Given the description of an element on the screen output the (x, y) to click on. 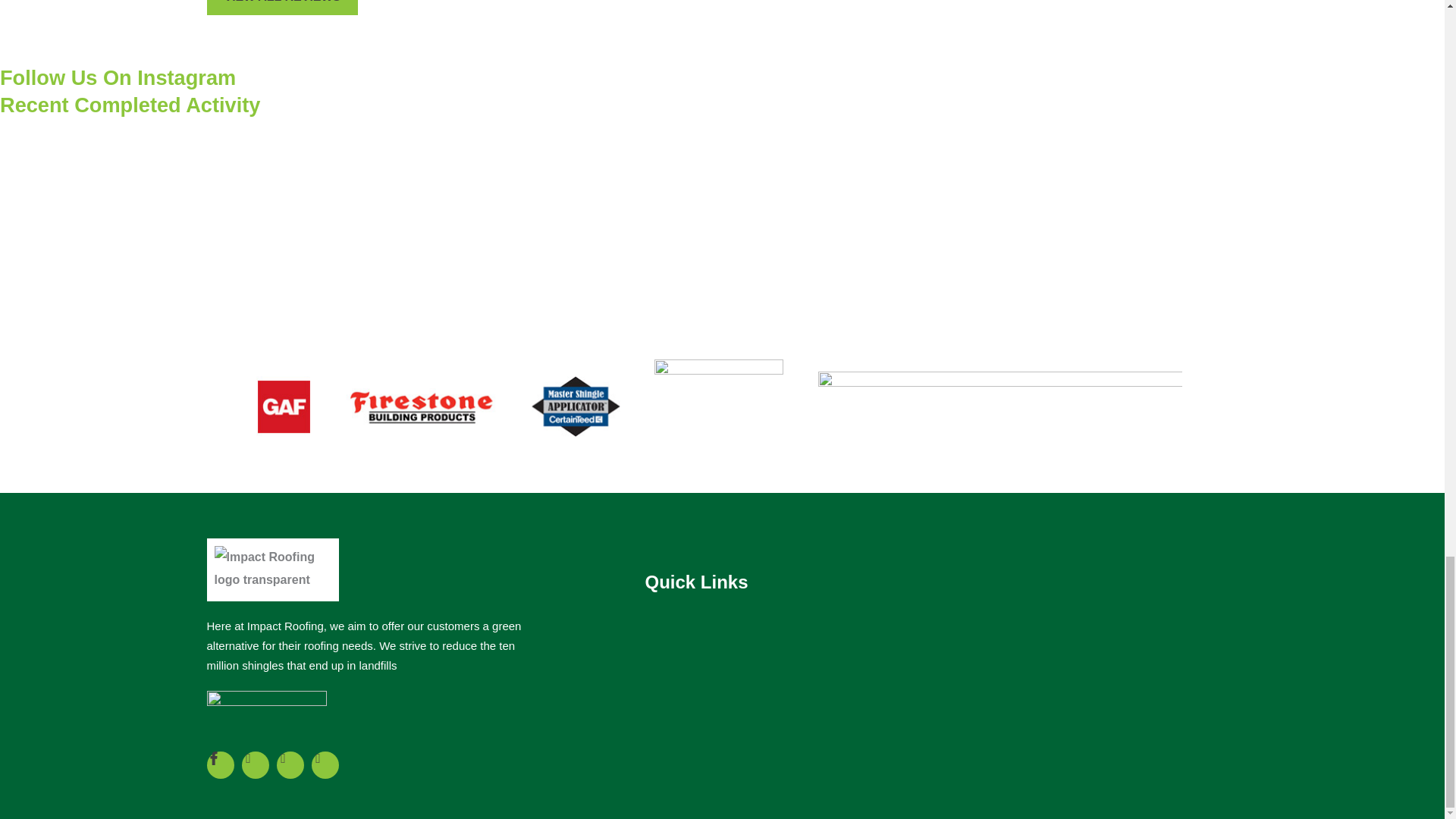
VIEW ALL REVIEWS (282, 7)
Youtube (324, 764)
Yelp (254, 764)
Instagram (289, 764)
